Given the description of an element on the screen output the (x, y) to click on. 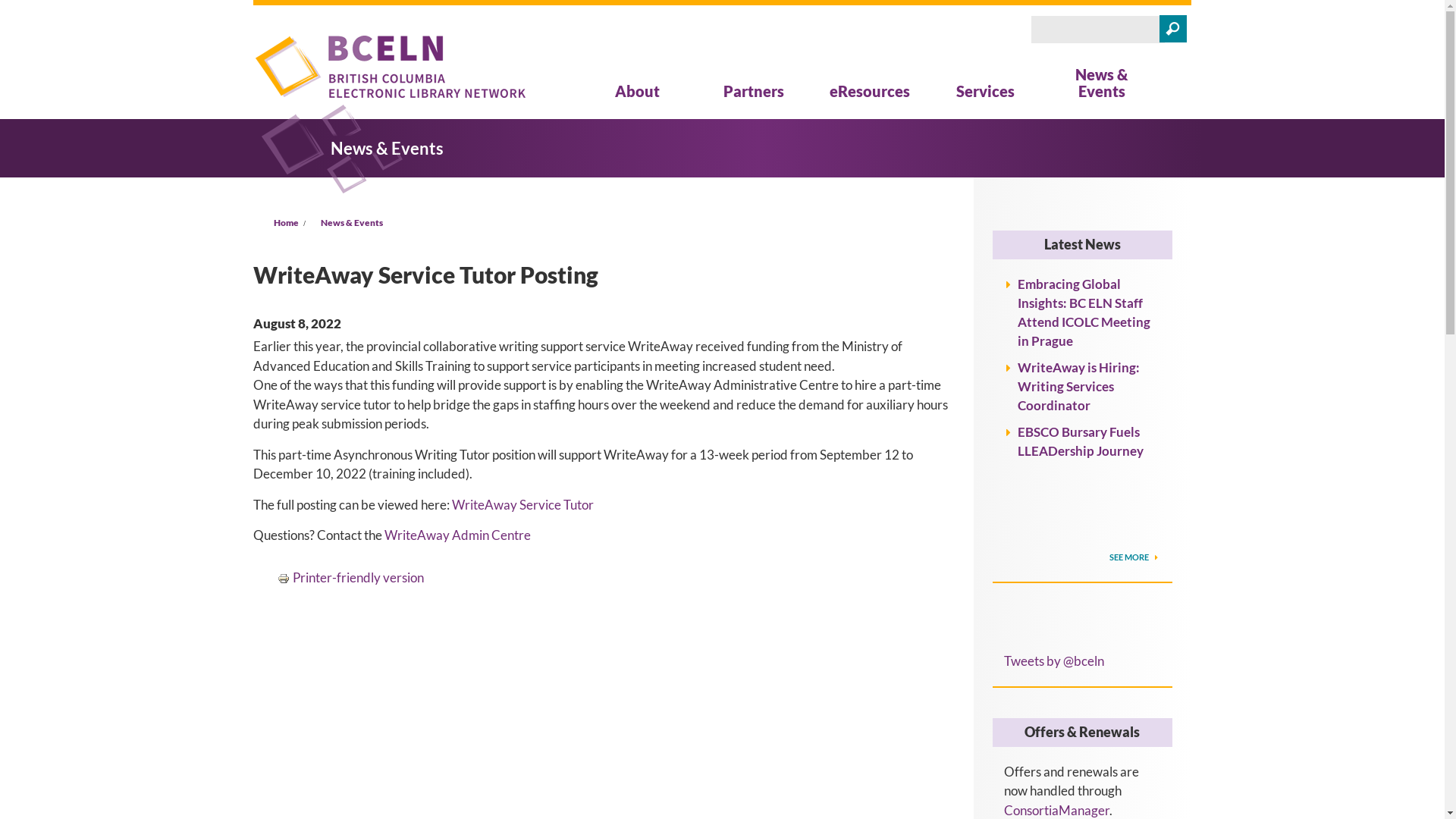
Home Element type: hover (389, 69)
Printer-friendly version Element type: text (350, 576)
Search Element type: text (1176, 29)
ConsortiaManager Element type: text (1056, 810)
News & Events Element type: text (351, 222)
Skip to main content Element type: text (55, 0)
Printer-friendly version Element type: hover (284, 578)
SEE MORE Element type: text (1135, 556)
eResources Element type: text (869, 90)
WriteAway Service Tutor Element type: text (522, 503)
News & Events Element type: text (1101, 82)
About Element type: text (637, 90)
EBSCO Bursary Fuels LLEADership Journey Element type: text (1080, 440)
Enter the terms you wish to search for. Element type: hover (1097, 29)
Home Element type: text (285, 222)
WriteAway is Hiring: Writing Services Coordinator Element type: text (1078, 386)
Services Element type: text (985, 90)
WriteAway Admin Centre Element type: text (457, 534)
Tweets by @bceln Element type: text (1054, 660)
Partners Element type: text (753, 90)
